Given the description of an element on the screen output the (x, y) to click on. 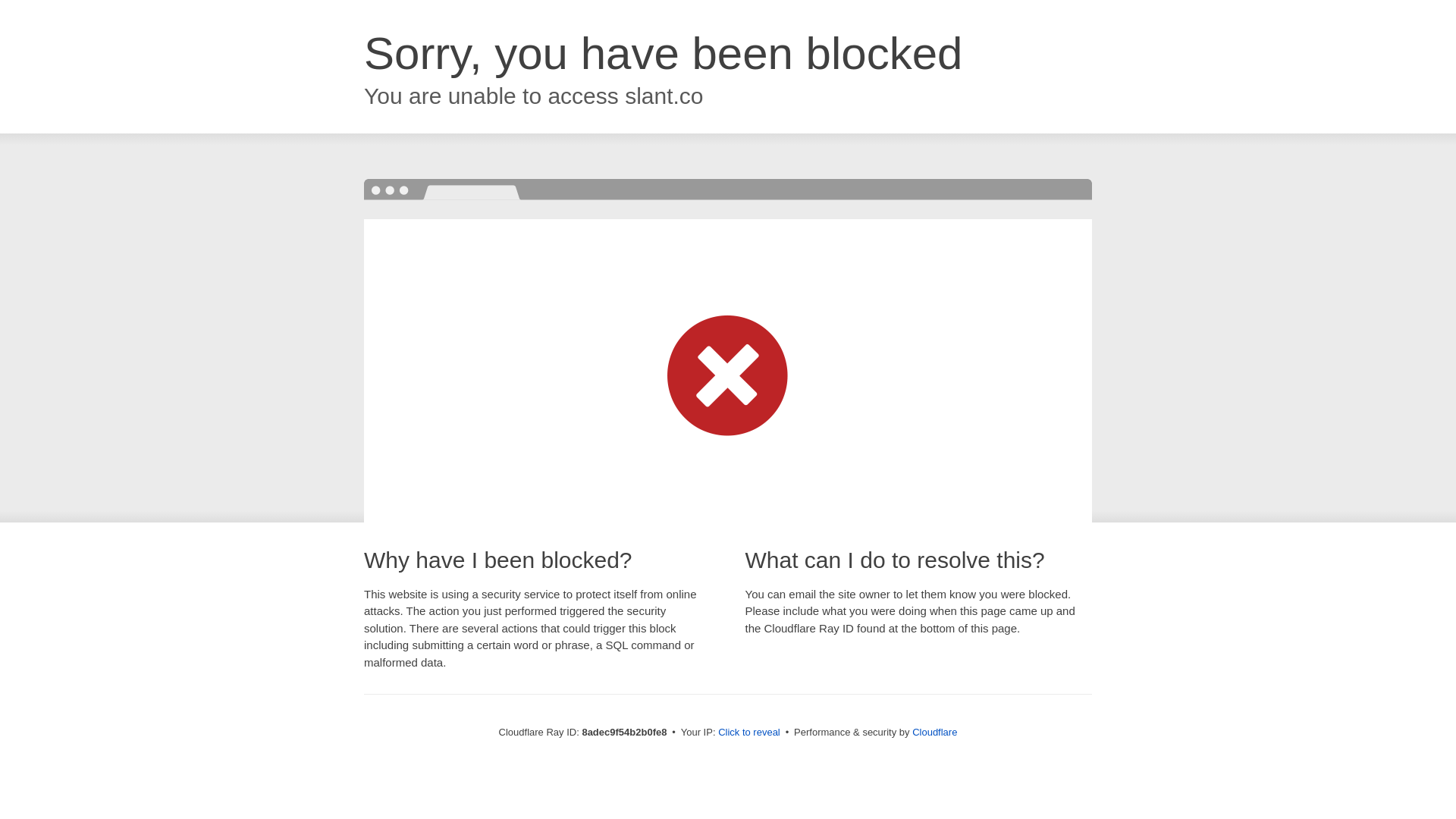
Cloudflare (934, 731)
Click to reveal (748, 732)
